Given the description of an element on the screen output the (x, y) to click on. 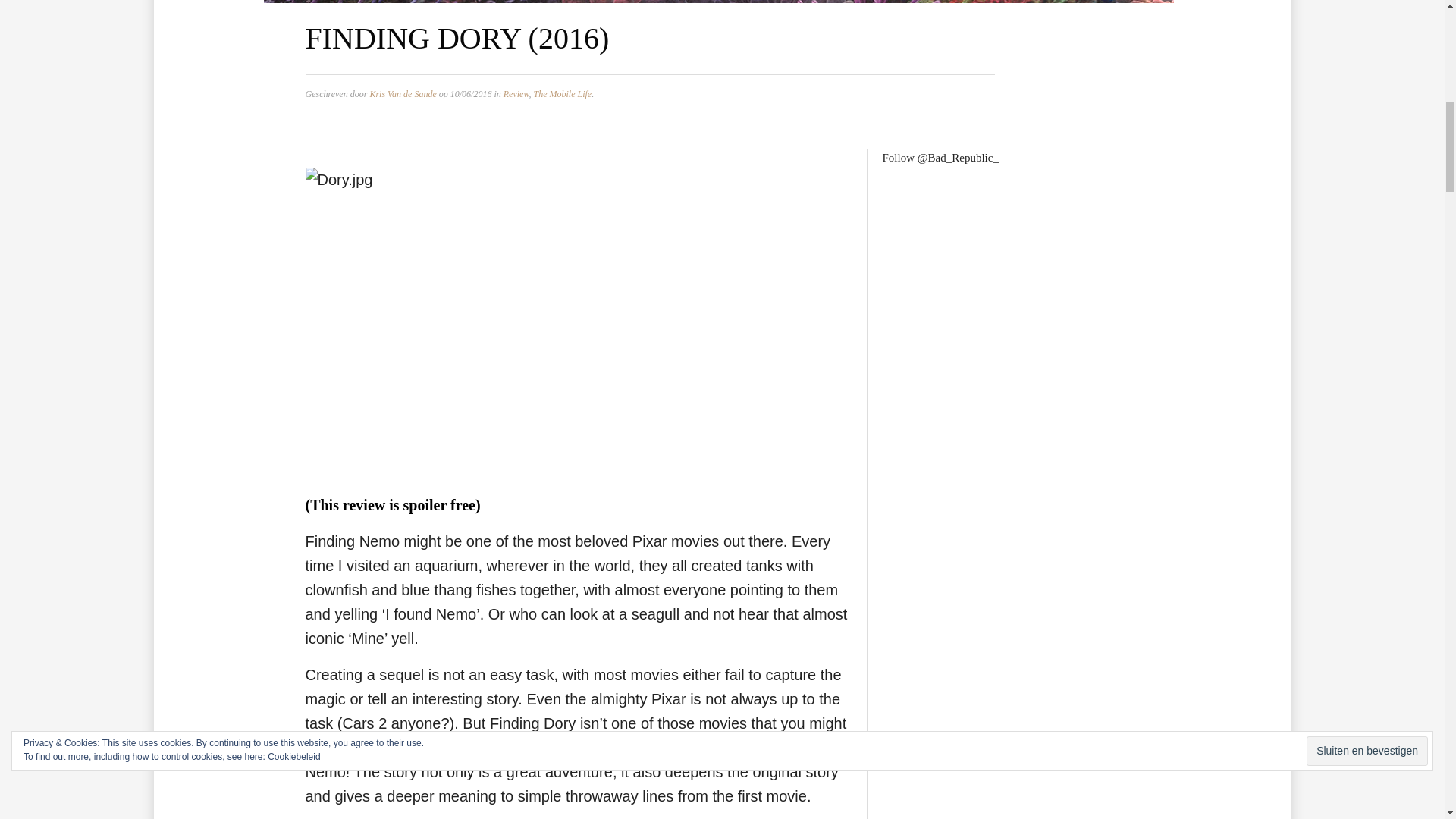
Berichten van Kris Van de Sande (402, 93)
